Given the description of an element on the screen output the (x, y) to click on. 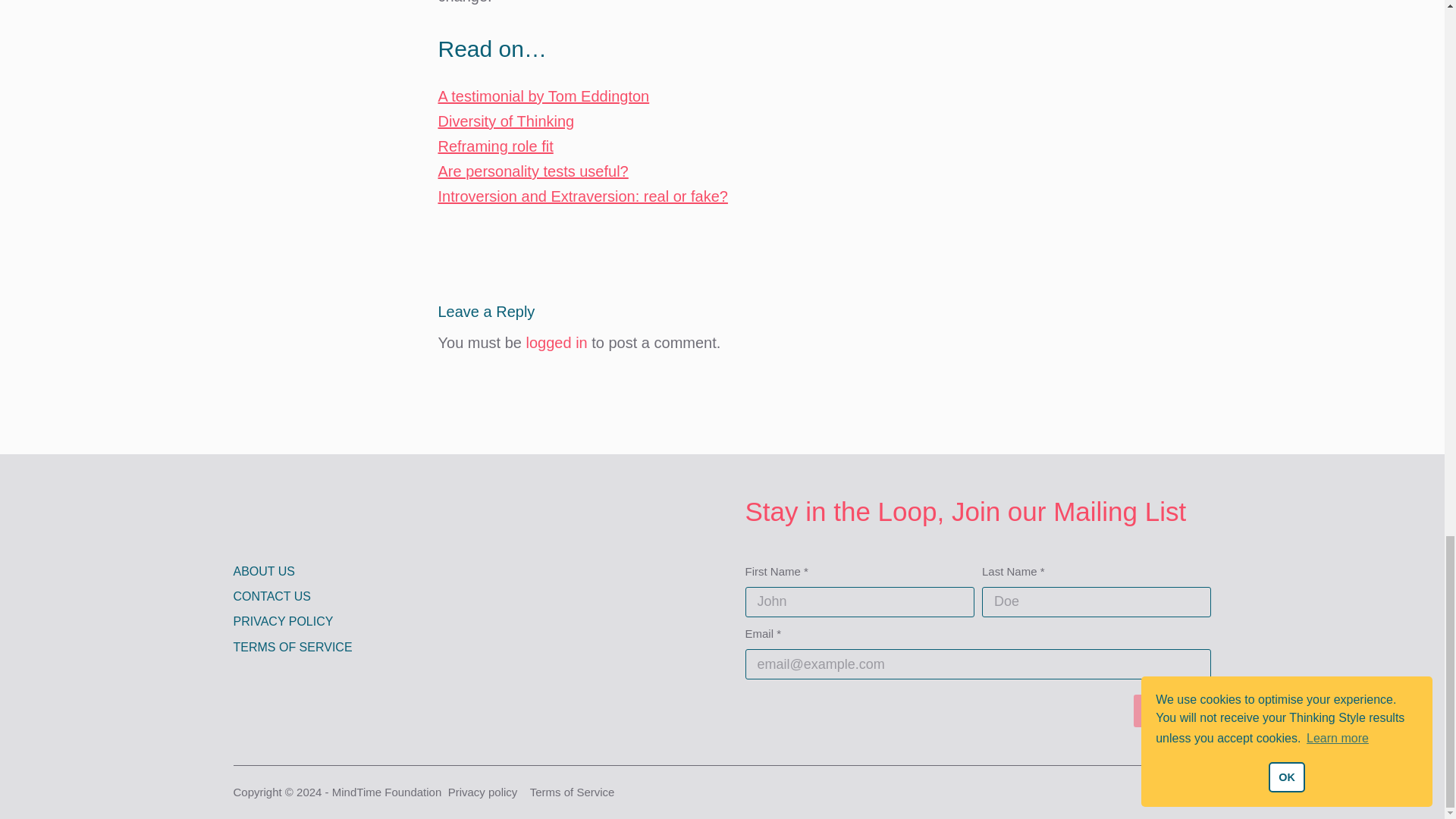
PRIVACY POLICY (441, 621)
Do not include numbers or special characters. (1096, 602)
CONTACT US (441, 596)
Are personality tests useful? (533, 170)
Diversity of Thinking (506, 121)
logged in (556, 342)
Reframing role fit (495, 146)
Introversion and Extraversion: real or fake? (583, 196)
ABOUT US (441, 571)
TERMS OF SERVICE (441, 647)
A testimonial by Tom Eddington (543, 95)
Submit (1172, 710)
Do not include numbers or special characters. (859, 602)
